Given the description of an element on the screen output the (x, y) to click on. 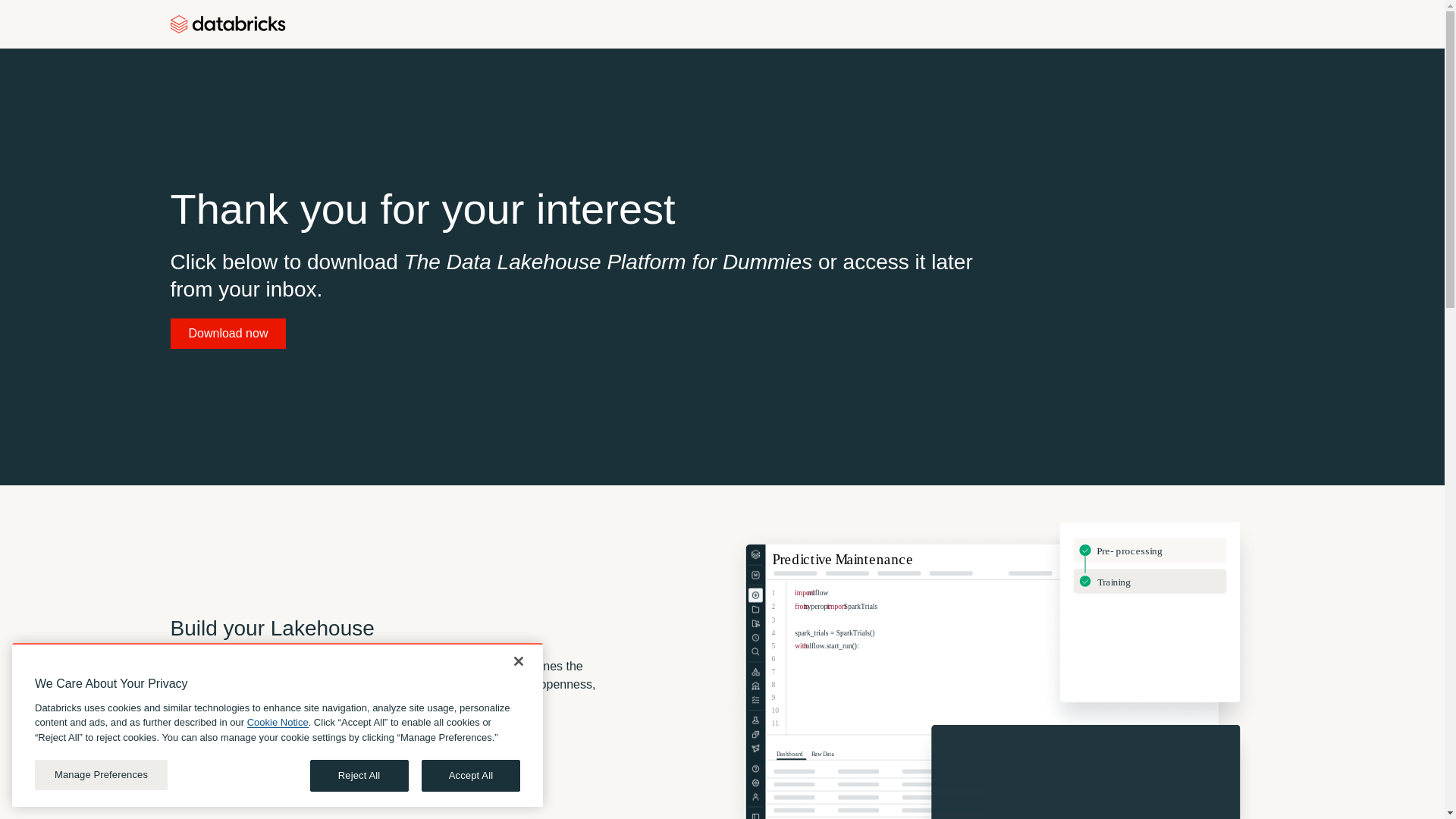
Download now (227, 333)
Start your free 14-day trial (258, 745)
Download now (227, 333)
